Given the description of an element on the screen output the (x, y) to click on. 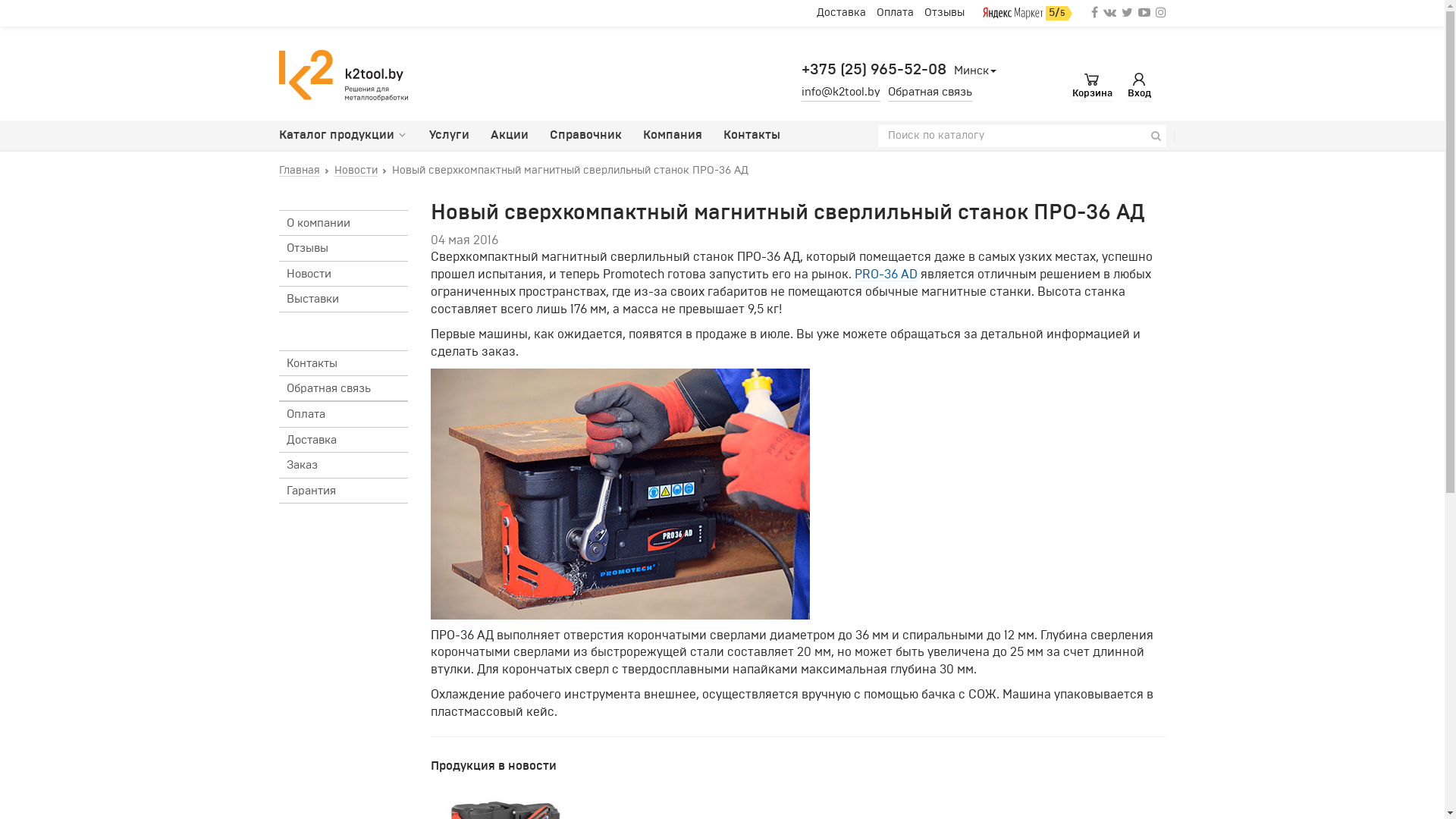
info@k2tool.by Element type: text (839, 92)
+375 (25) 965-52-08 Element type: text (872, 70)
5/5 Element type: text (1027, 13)
PRO-36 AD Element type: text (884, 274)
